Given the description of an element on the screen output the (x, y) to click on. 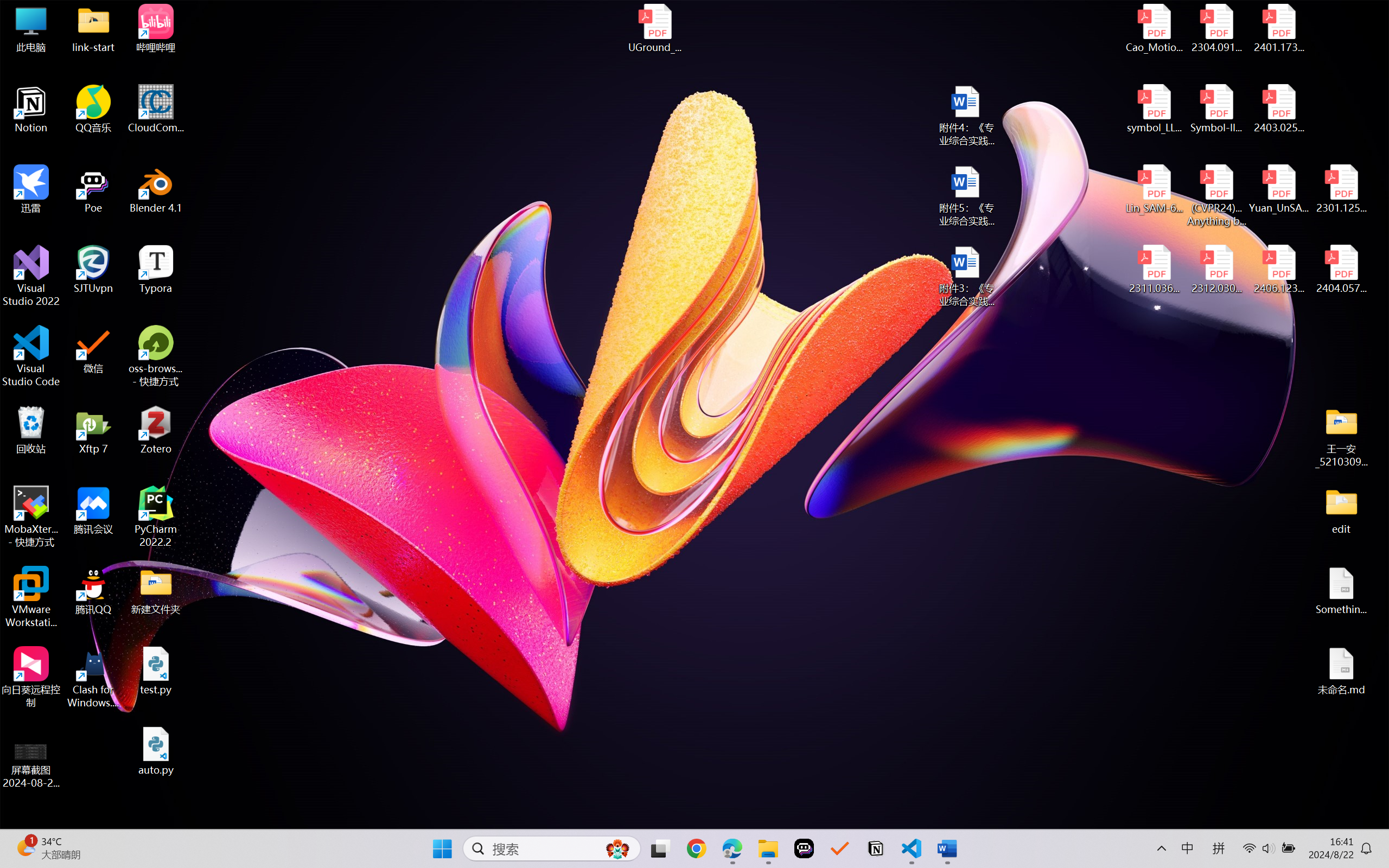
PyCharm 2022.2 (156, 516)
2404.05719v1.pdf (1340, 269)
auto.py (156, 751)
2301.12597v3.pdf (1340, 189)
UGround_paper.pdf (654, 28)
